Given the description of an element on the screen output the (x, y) to click on. 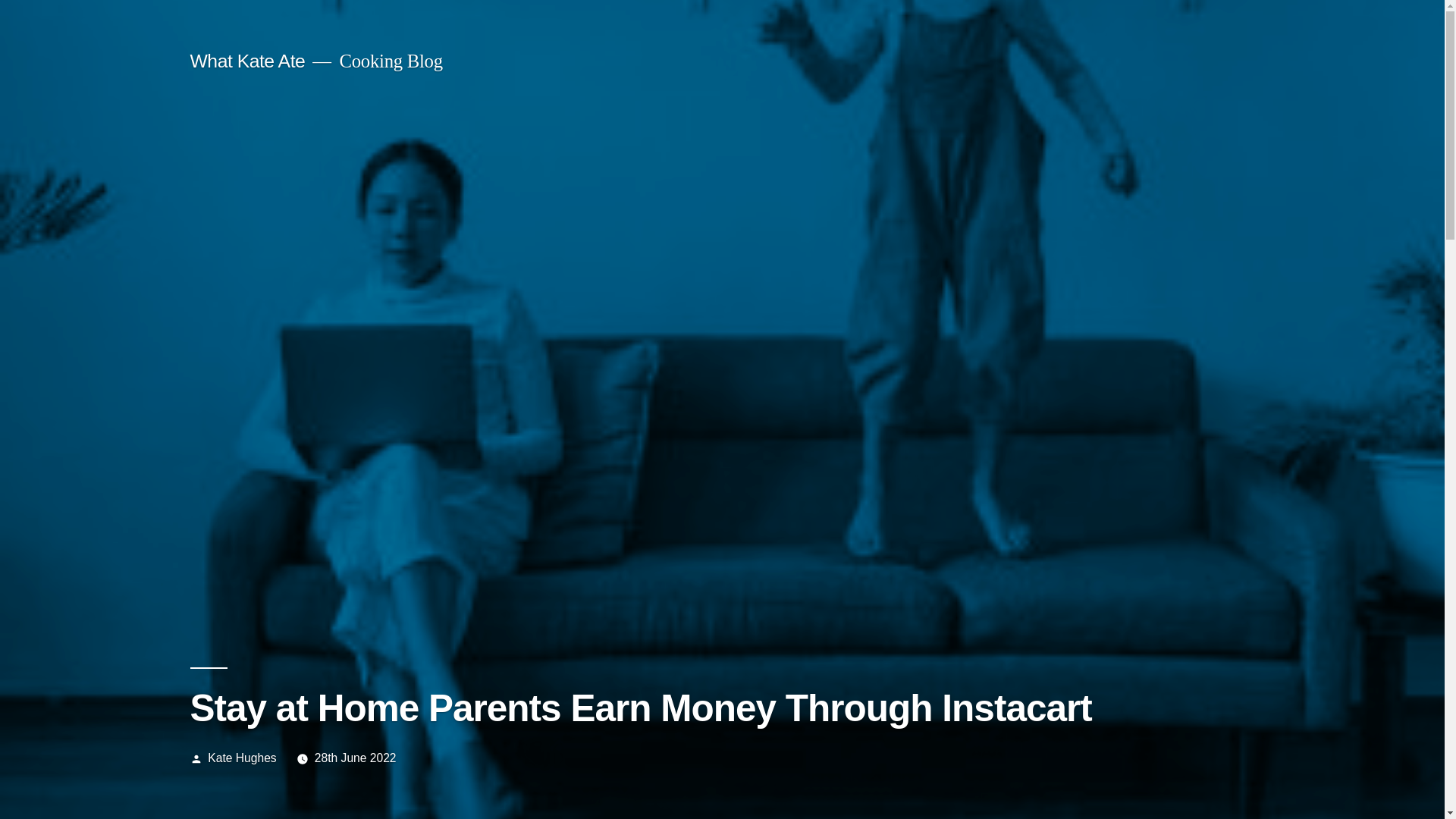
28th June 2022 (355, 757)
What Kate Ate (246, 60)
Kate Hughes (242, 757)
